Given the description of an element on the screen output the (x, y) to click on. 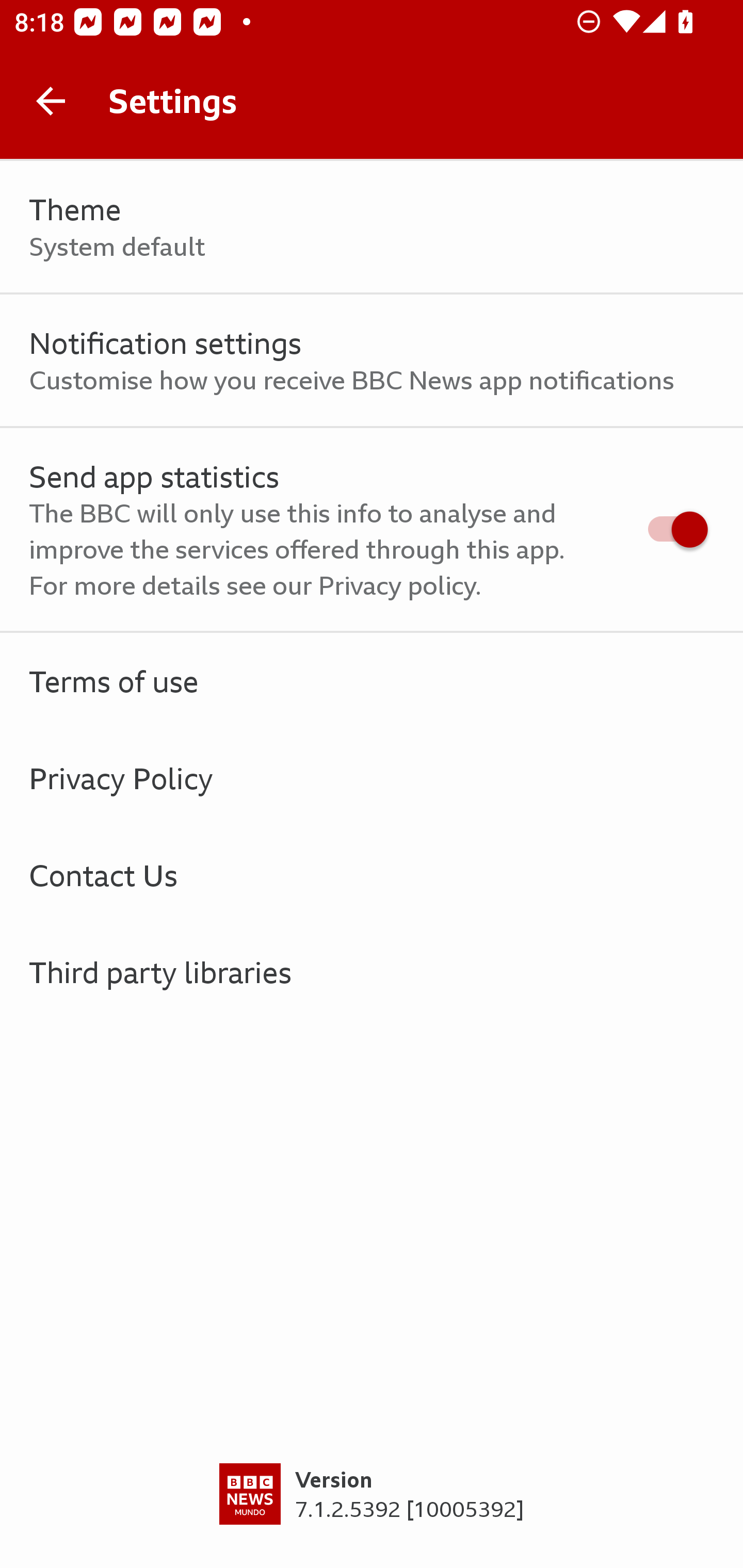
Back (50, 101)
Theme System default (371, 227)
Terms of use (371, 681)
Privacy Policy (371, 777)
Contact Us (371, 874)
Third party libraries (371, 971)
Version 7.1.2.5392 [10005392] (371, 1515)
